Given the description of an element on the screen output the (x, y) to click on. 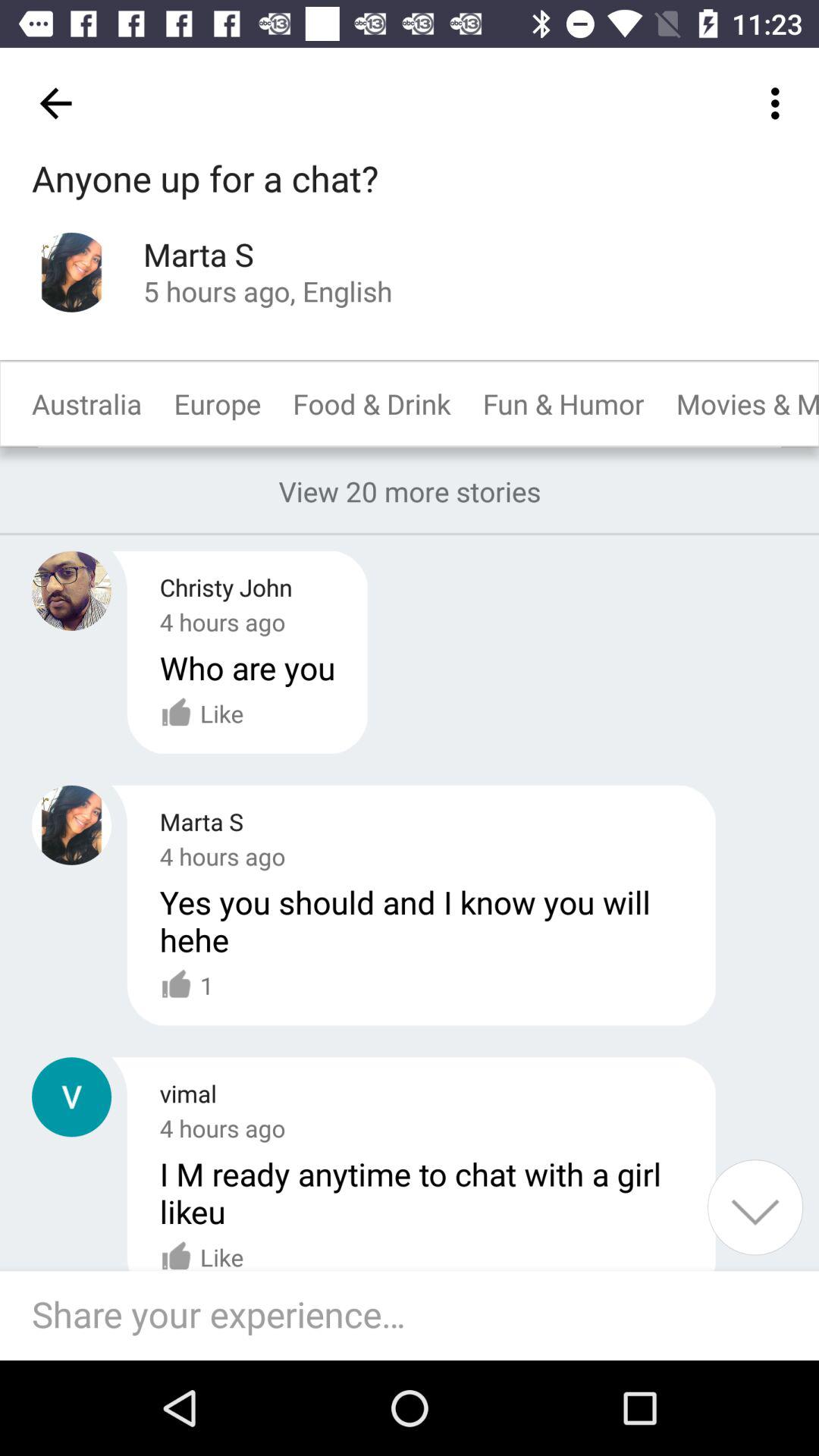
go to an user profile (71, 590)
